Given the description of an element on the screen output the (x, y) to click on. 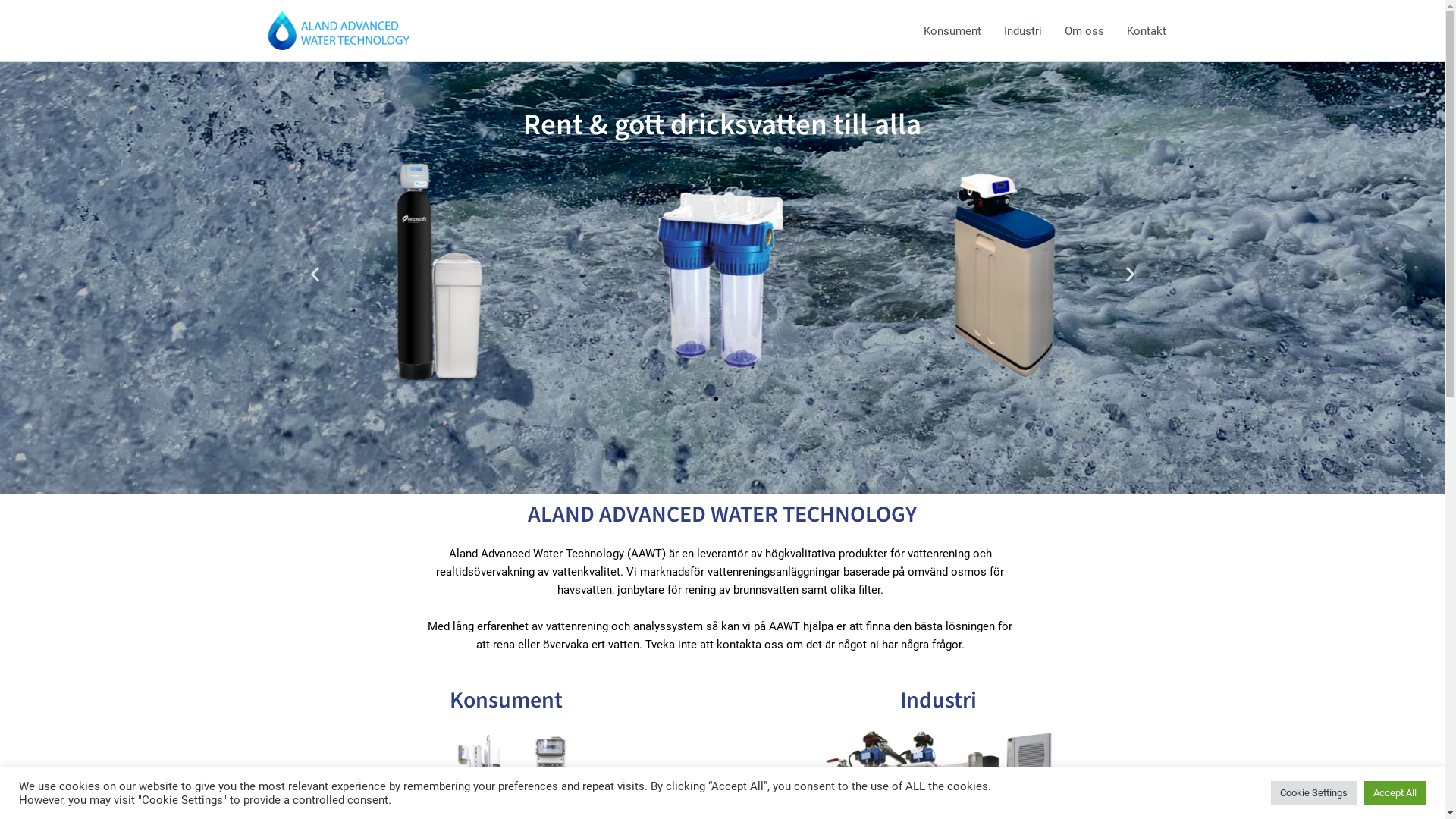
Industri Element type: text (1021, 30)
Om oss Element type: text (1083, 30)
Accept All Element type: text (1394, 792)
Kontakt Element type: text (1145, 30)
Konsument Element type: text (951, 30)
Cookie Settings Element type: text (1313, 792)
